Given the description of an element on the screen output the (x, y) to click on. 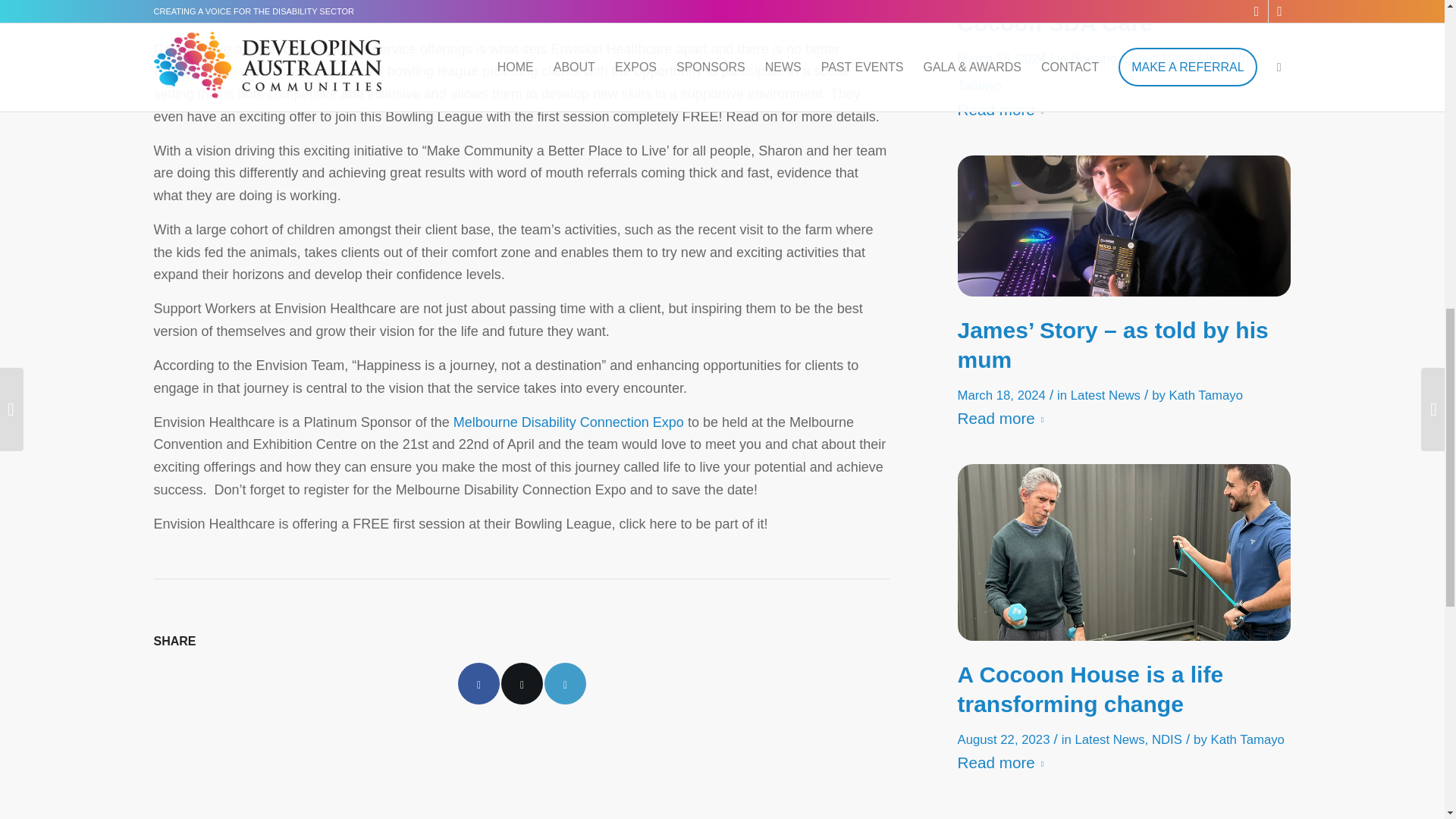
Kath Tamayo (1101, 72)
Posts by Kath Tamayo (1206, 395)
Read more (1002, 110)
Housing (1093, 58)
dac-cocoon-house-life-transforming-change-1-dda8512d (1123, 552)
Latest News (1158, 58)
Melbourne Disability Connection Expo (568, 421)
Posts by Kath Tamayo (1101, 72)
